Given the description of an element on the screen output the (x, y) to click on. 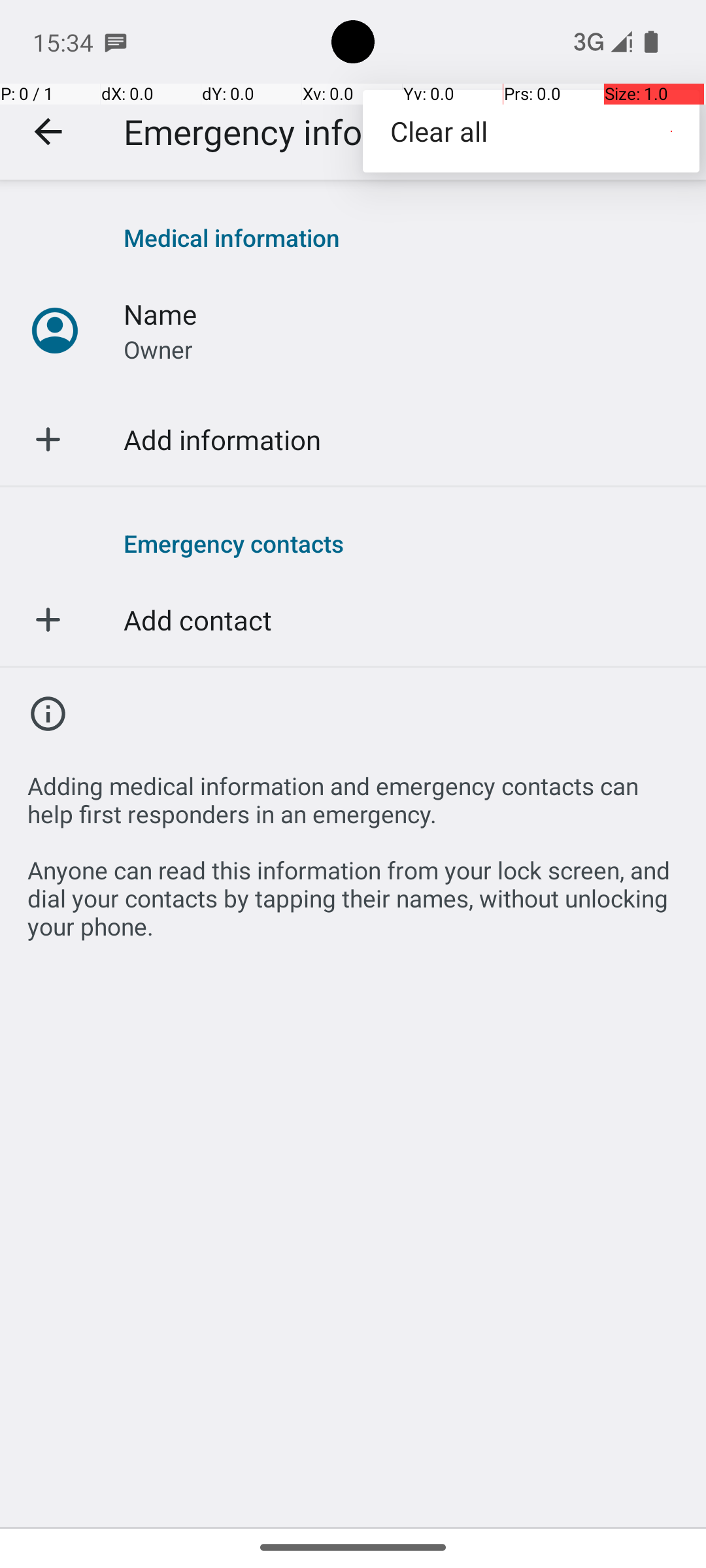
Clear all Element type: android.widget.TextView (531, 130)
